Given the description of an element on the screen output the (x, y) to click on. 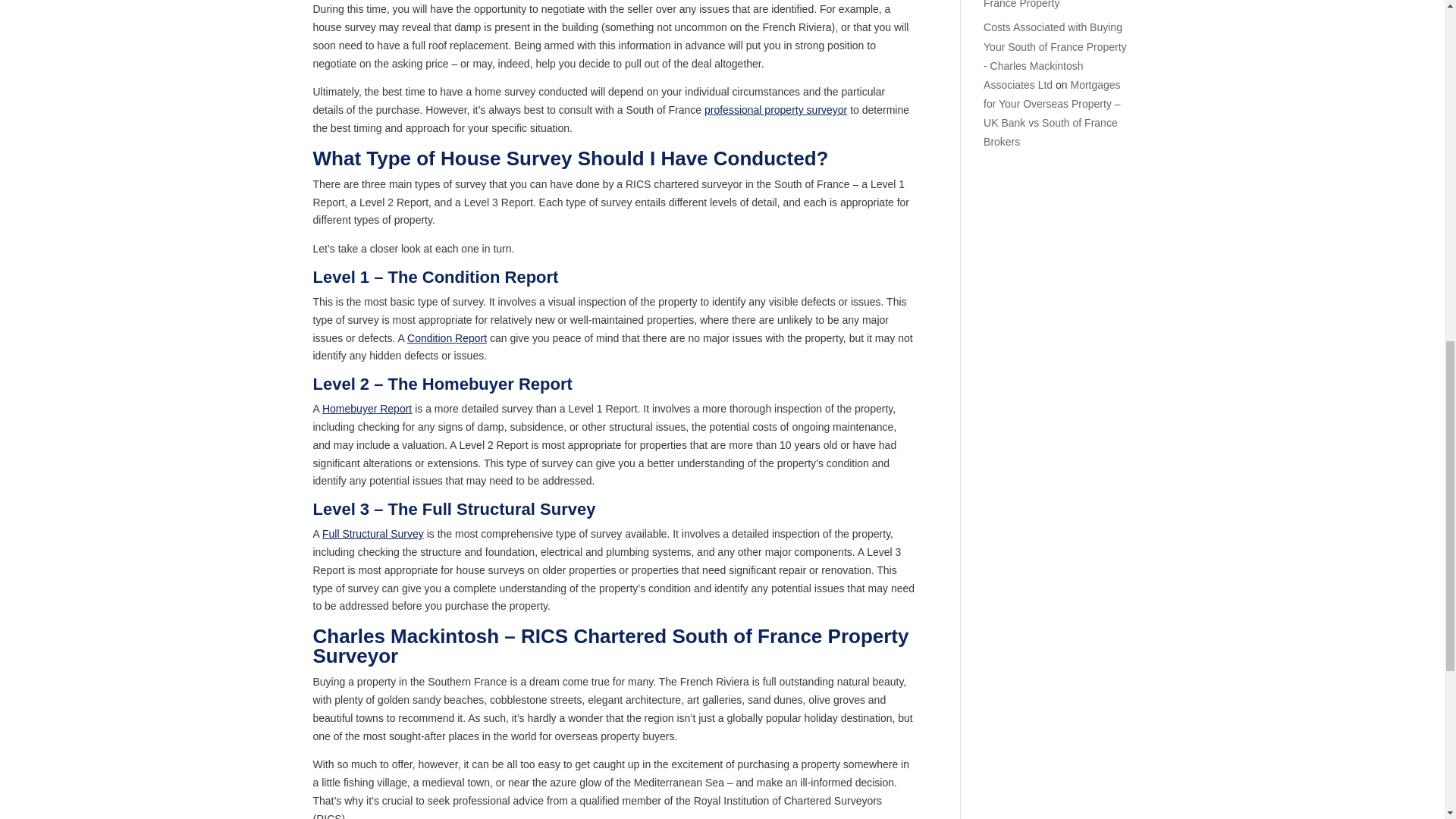
How to Bring Your Pet to Your New South of France Property (1057, 4)
Condition Report (446, 337)
Full Structural Survey (372, 533)
Homebuyer Report (366, 408)
professional property surveyor (775, 110)
